Given the description of an element on the screen output the (x, y) to click on. 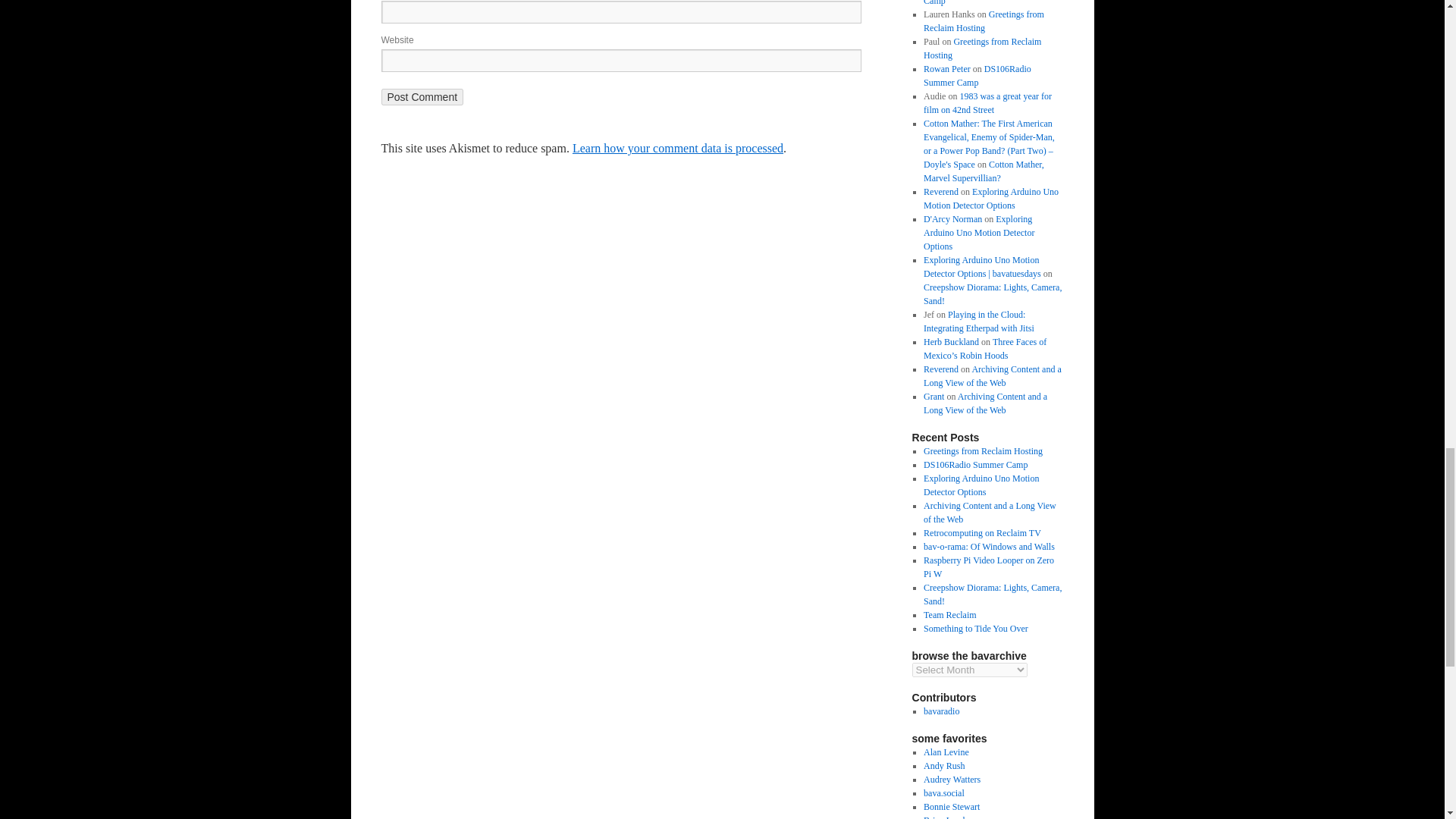
Post Comment (421, 96)
bava on the radio (941, 710)
Learn how your comment data is processed (677, 147)
Post Comment (421, 96)
